Given the description of an element on the screen output the (x, y) to click on. 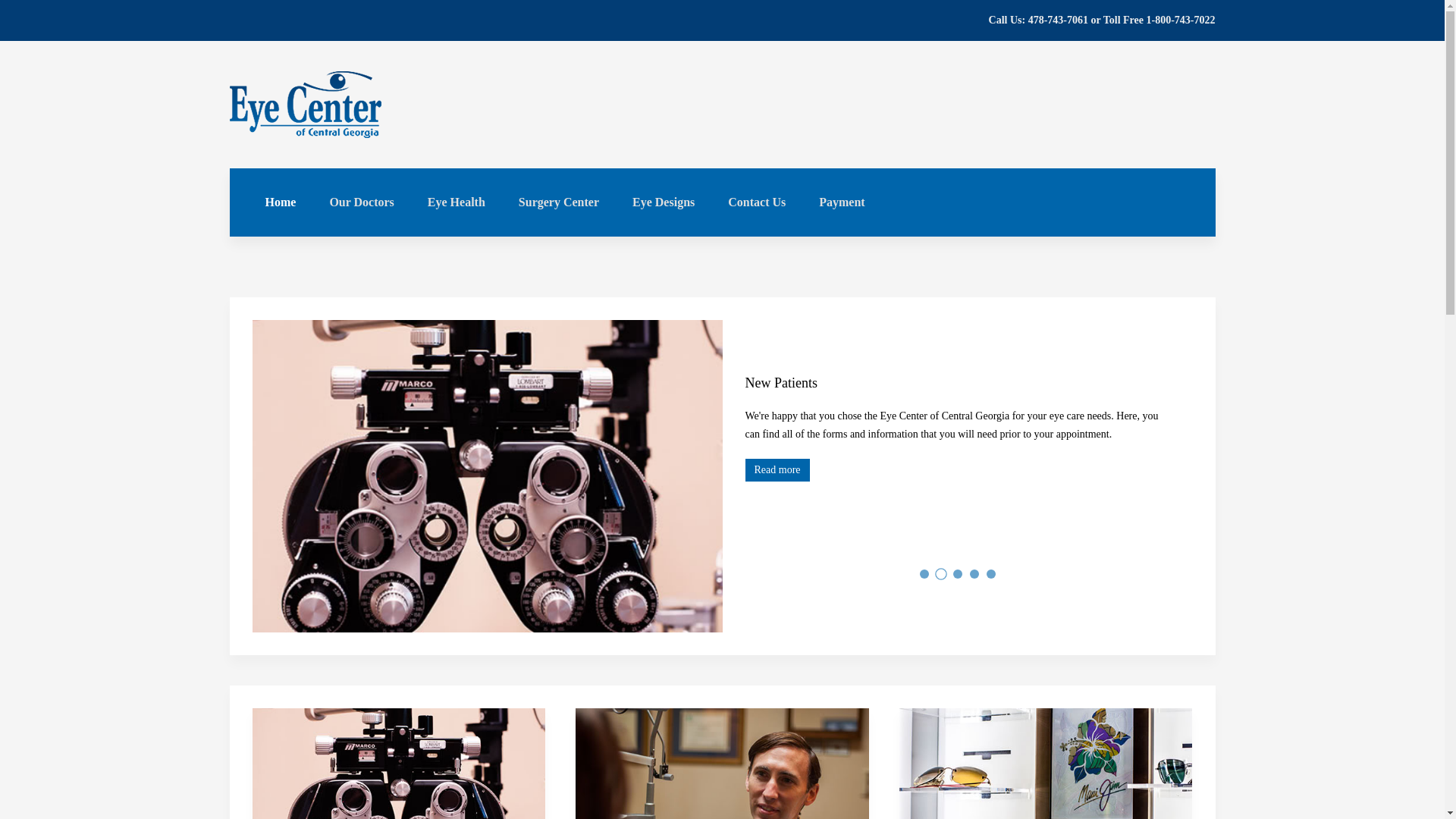
Eye Designs (663, 202)
Eye Designs (1045, 763)
Payment (841, 202)
Surgery Center (558, 202)
Our Doctors (722, 763)
Our Doctors (361, 202)
Home (280, 202)
Contact Us (756, 202)
Eye Health (456, 202)
New Patients (397, 763)
